Given the description of an element on the screen output the (x, y) to click on. 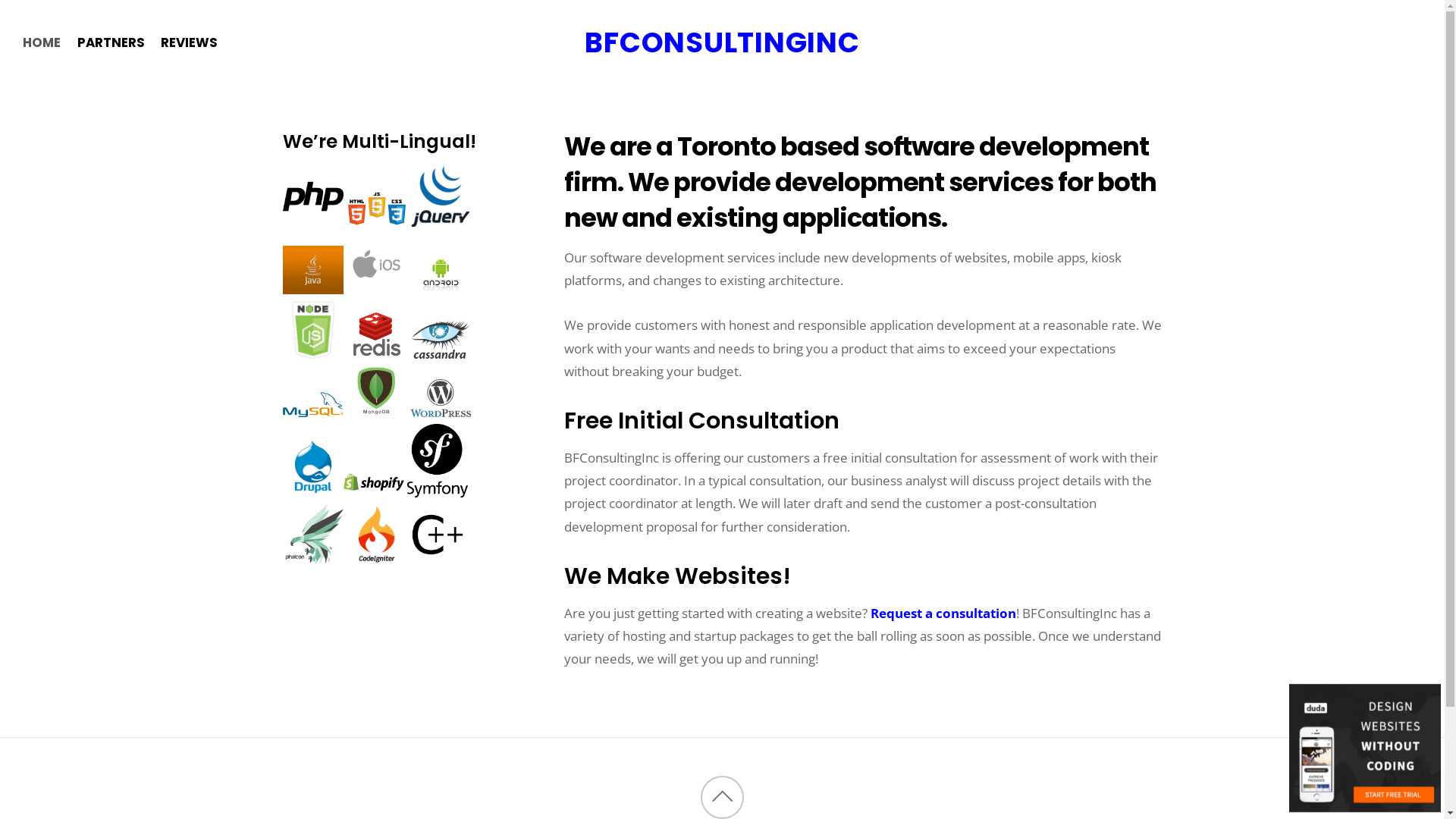
REVIEWS Element type: text (184, 54)
BFCONSULTINGINC Element type: text (721, 42)
HOME Element type: text (41, 54)
Request a consultation Element type: text (943, 612)
PARTNERS Element type: text (105, 54)
